Given the description of an element on the screen output the (x, y) to click on. 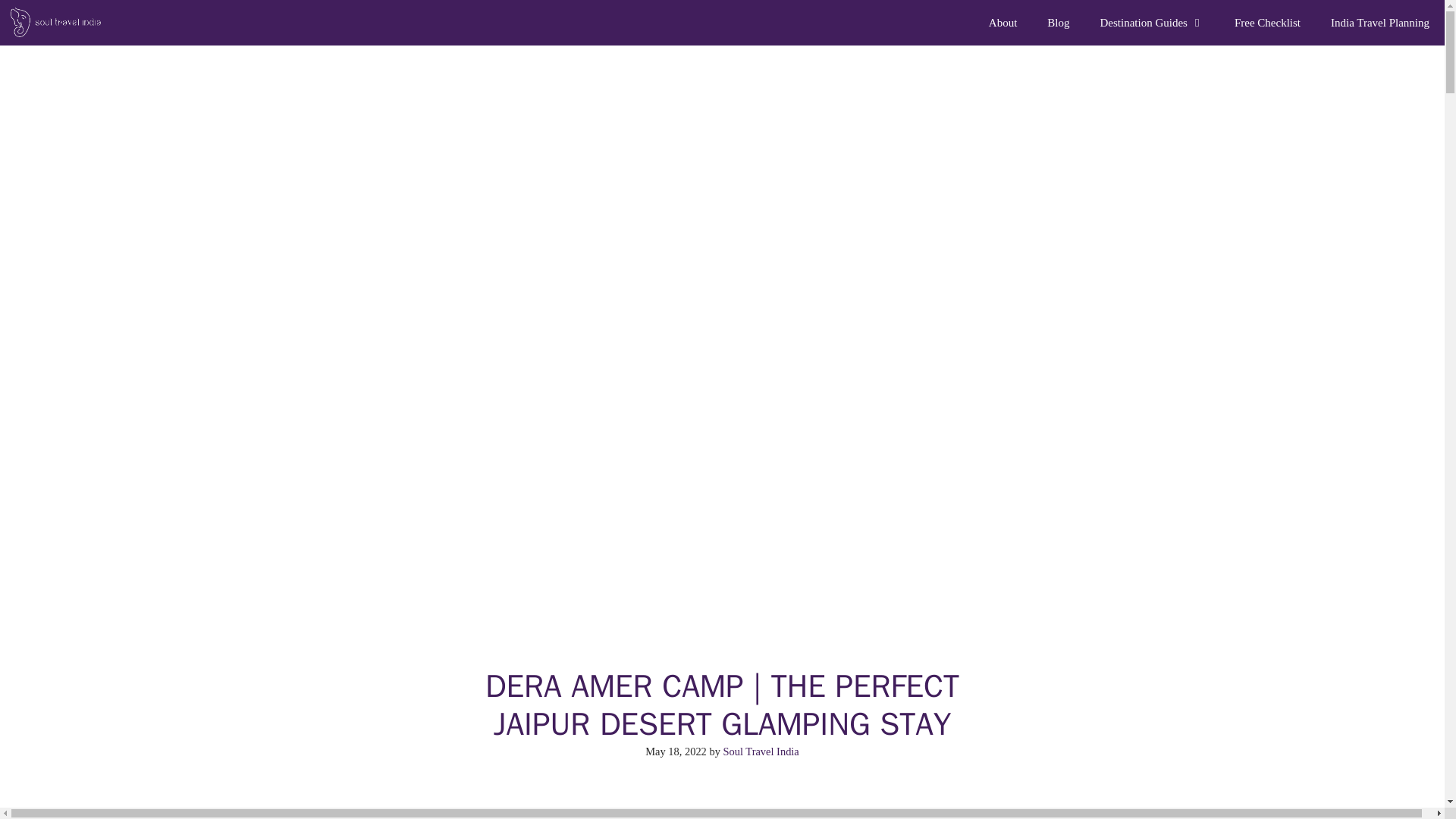
Blog (1058, 22)
Destination Guides (1152, 22)
About (1003, 22)
Free Checklist (1268, 22)
View all posts by Soul Travel India (761, 751)
India Travel Planning (1380, 22)
Soul Travel India (61, 22)
Soul Travel India (761, 751)
Soul Travel India (56, 22)
